Given the description of an element on the screen output the (x, y) to click on. 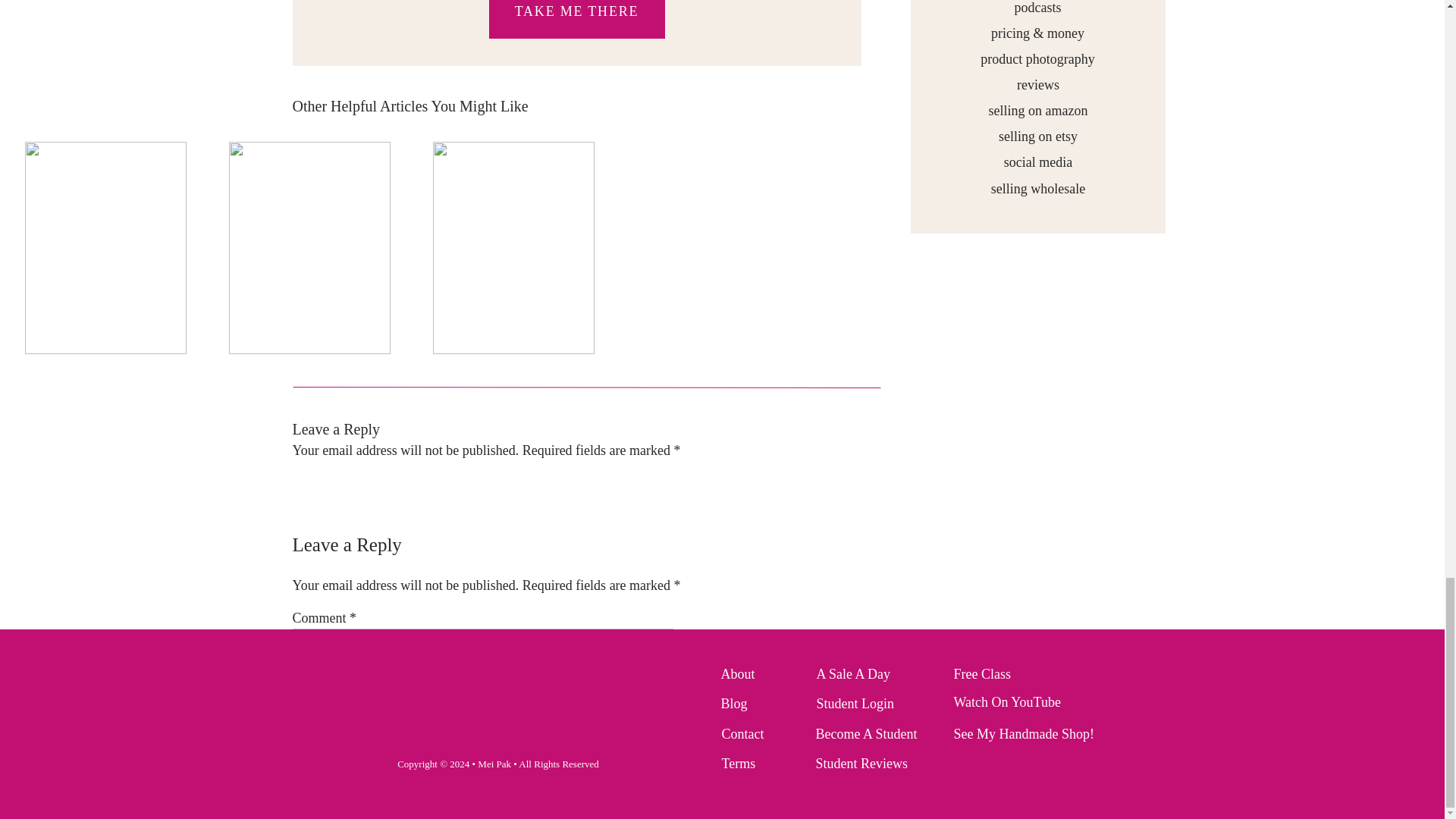
selling wholesale (1038, 187)
reviews (1037, 83)
Tiana Coats (354, 505)
podcasts (1037, 7)
website (648, 546)
thesprucecrafts.com (610, 579)
selling on amazon (1037, 108)
product photography (1037, 57)
social media (1037, 160)
selling on etsy (1036, 135)
